Given the description of an element on the screen output the (x, y) to click on. 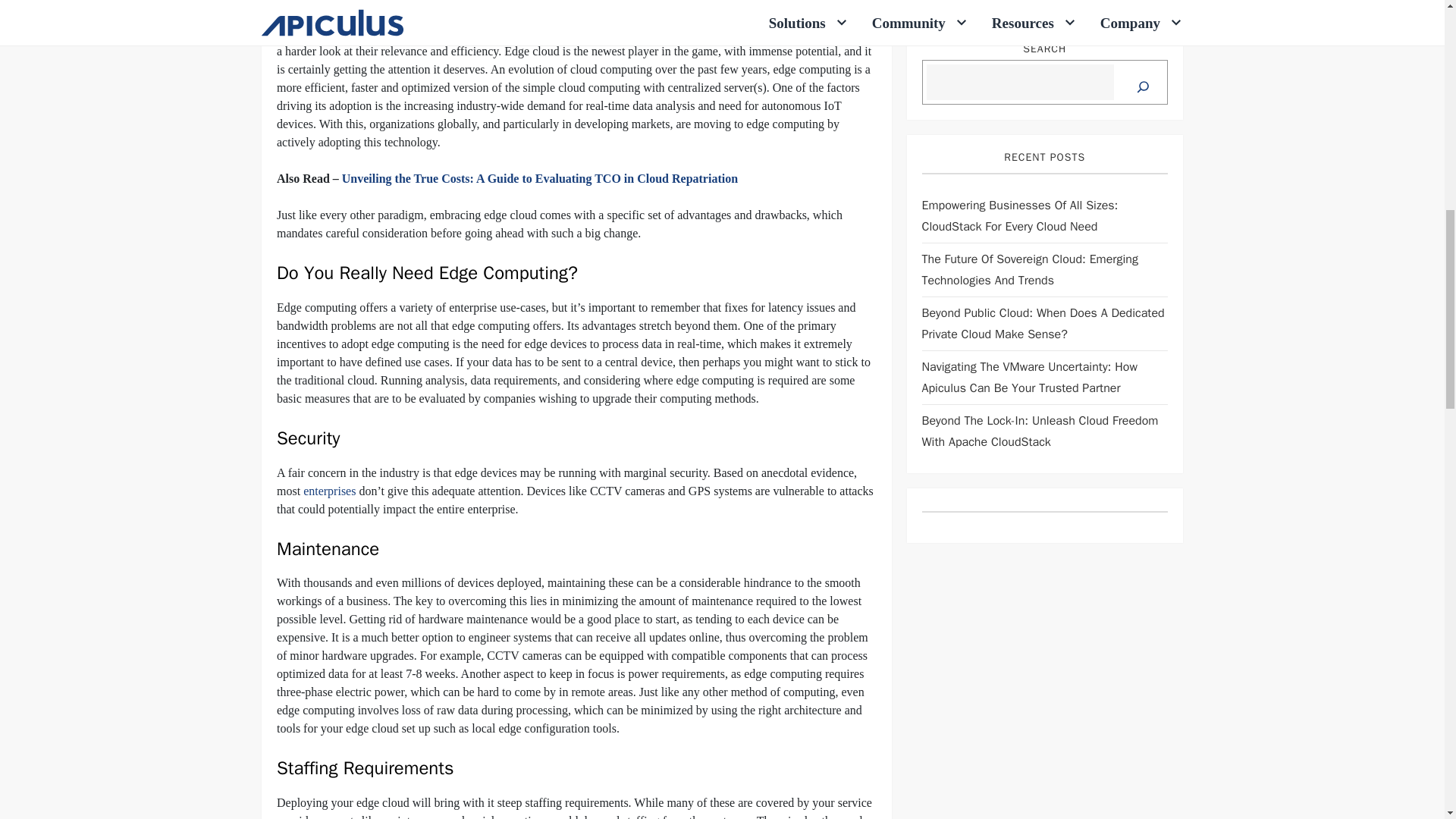
enterprises (328, 490)
Staffing Requirements (347, 2)
Staffing Requirements (347, 2)
